Given the description of an element on the screen output the (x, y) to click on. 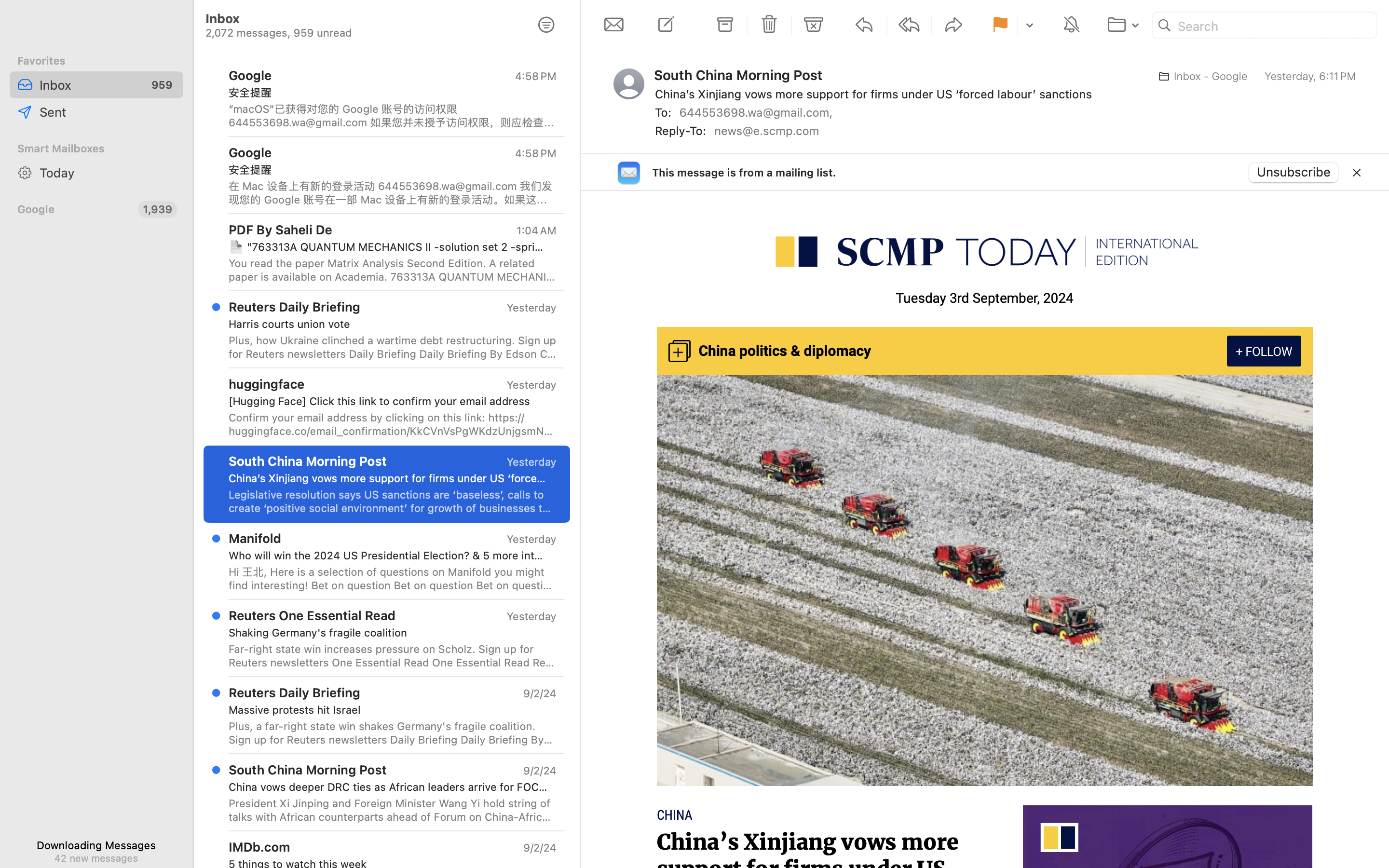
0.0 Element type: AXValueIndicator (1383, 156)
Manifold Element type: AXStaticText (254, 537)
0 Element type: AXCheckBox (545, 25)
Downloading Messages Element type: AXStaticText (96, 844)
China politics & diplomacy Element type: AXStaticText (784, 351)
